Given the description of an element on the screen output the (x, y) to click on. 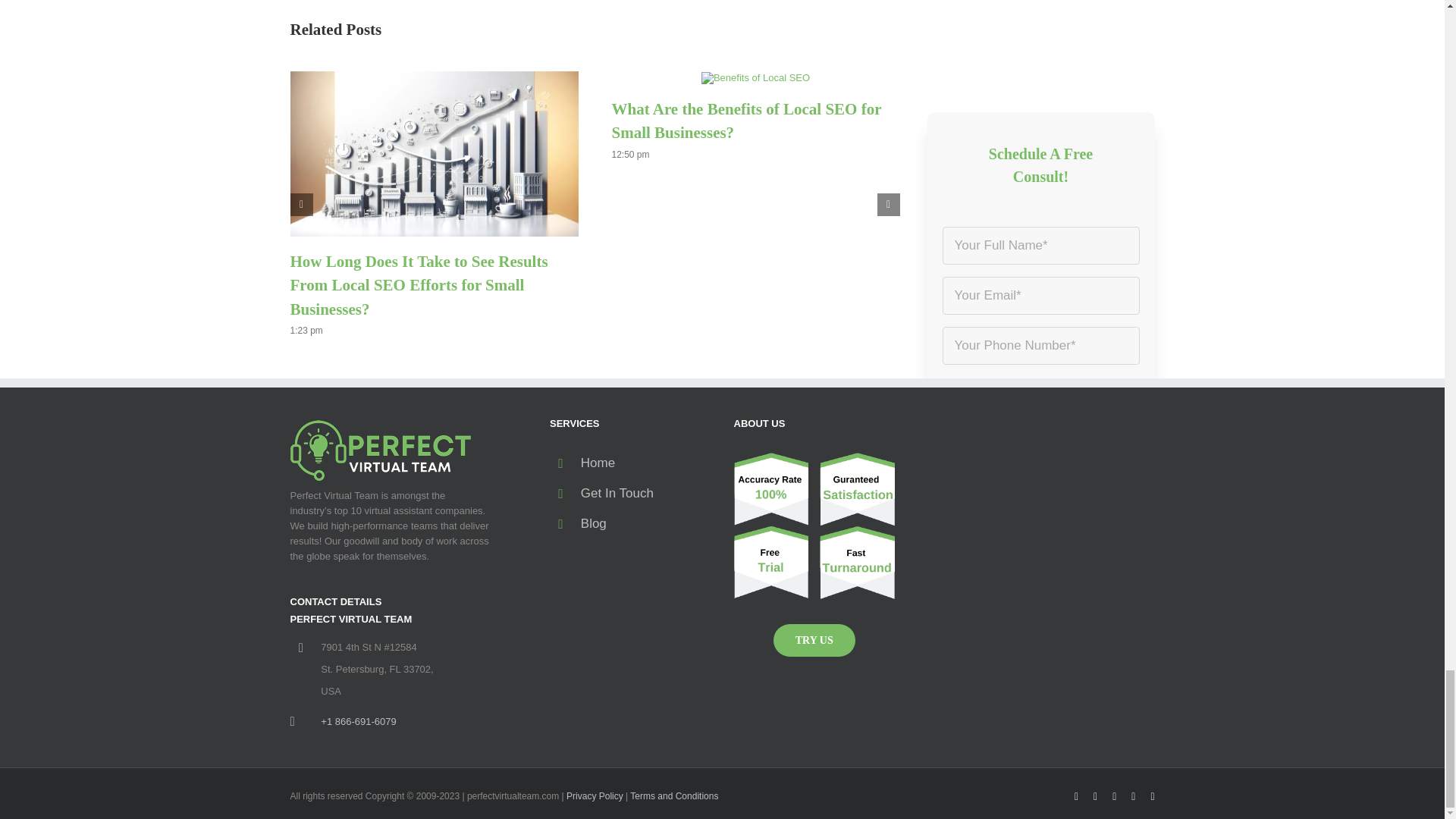
Benefits of Local SEO (755, 78)
What Are the Benefits of Local SEO for Small Businesses? (745, 120)
Local SEO Efforts for Small Businesses (433, 153)
